Given the description of an element on the screen output the (x, y) to click on. 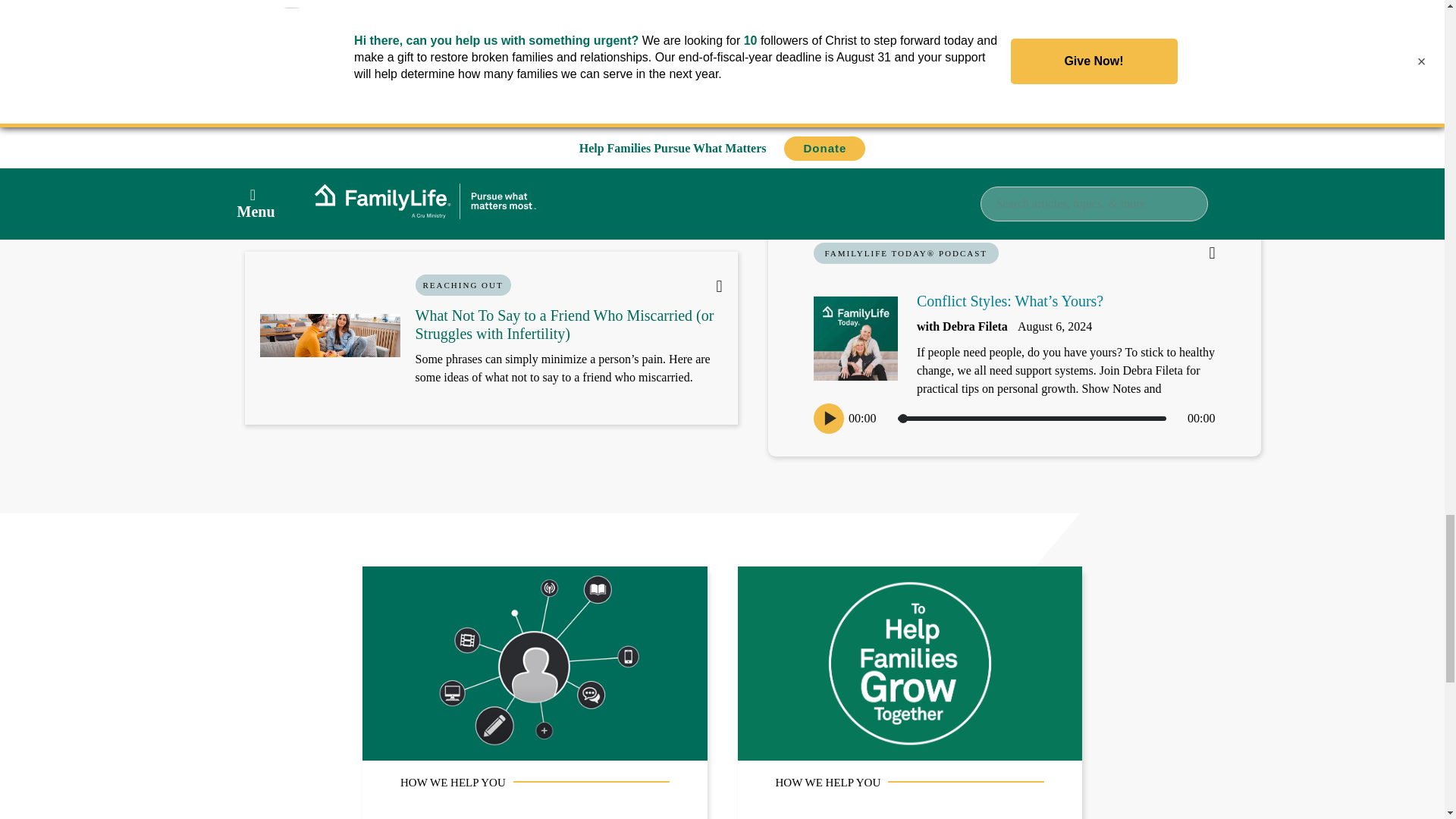
0 (1032, 418)
REACHING OUT (462, 284)
Please introduce yourself (462, 18)
How can we reach you? (721, 18)
click to join (980, 27)
Subscribe (980, 27)
